Given the description of an element on the screen output the (x, y) to click on. 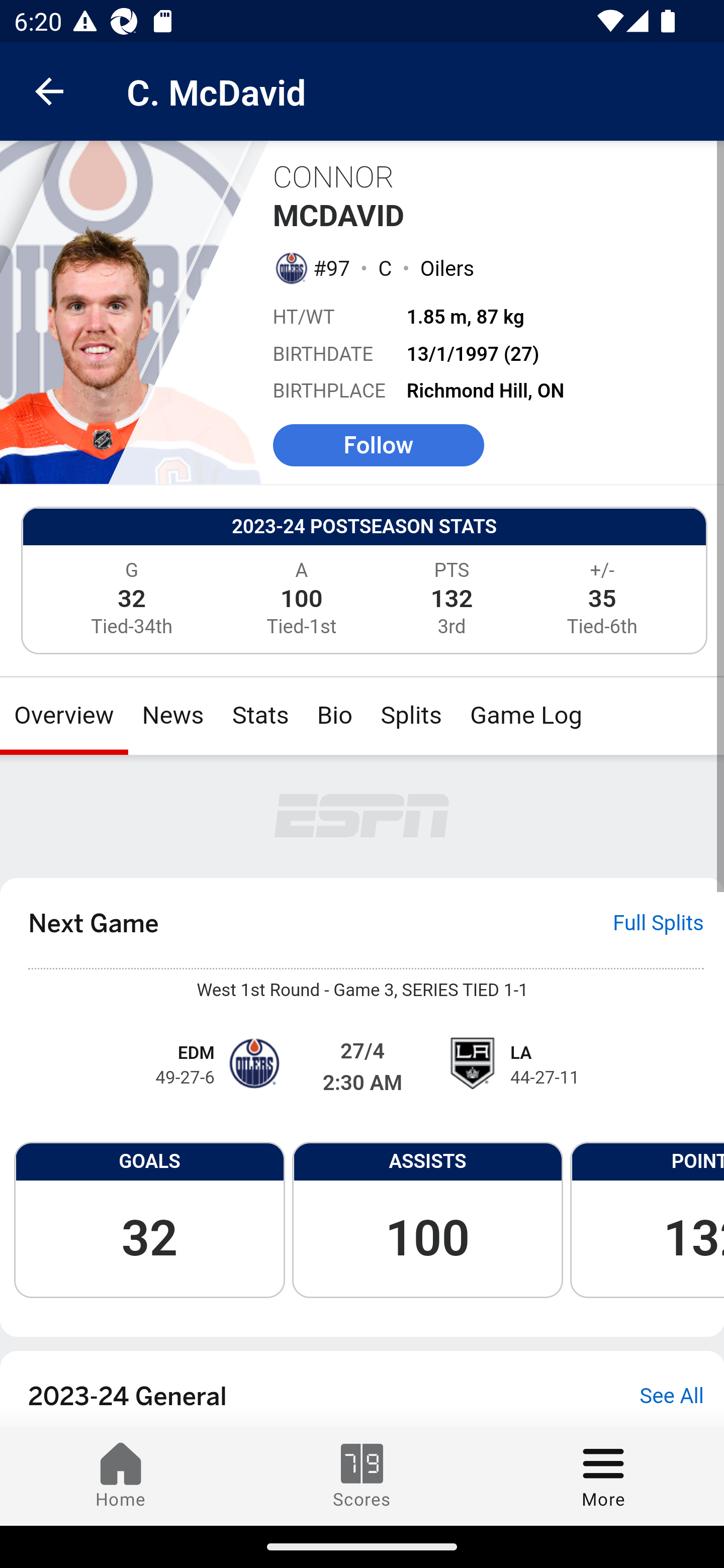
back.button (49, 90)
Edmonton Oilers (289, 267)
Oilers (446, 267)
Follow (377, 444)
Overview (64, 715)
News (172, 715)
Stats (260, 715)
Bio (334, 715)
Splits (411, 715)
Game Log (524, 715)
Full Splits (658, 923)
Edmonton Oilers (253, 1062)
Los Angeles Kings (471, 1062)
GOALS 32 (149, 1218)
ASSISTS 100 (427, 1218)
See All (671, 1397)
Home (120, 1475)
Scores (361, 1475)
